Given the description of an element on the screen output the (x, y) to click on. 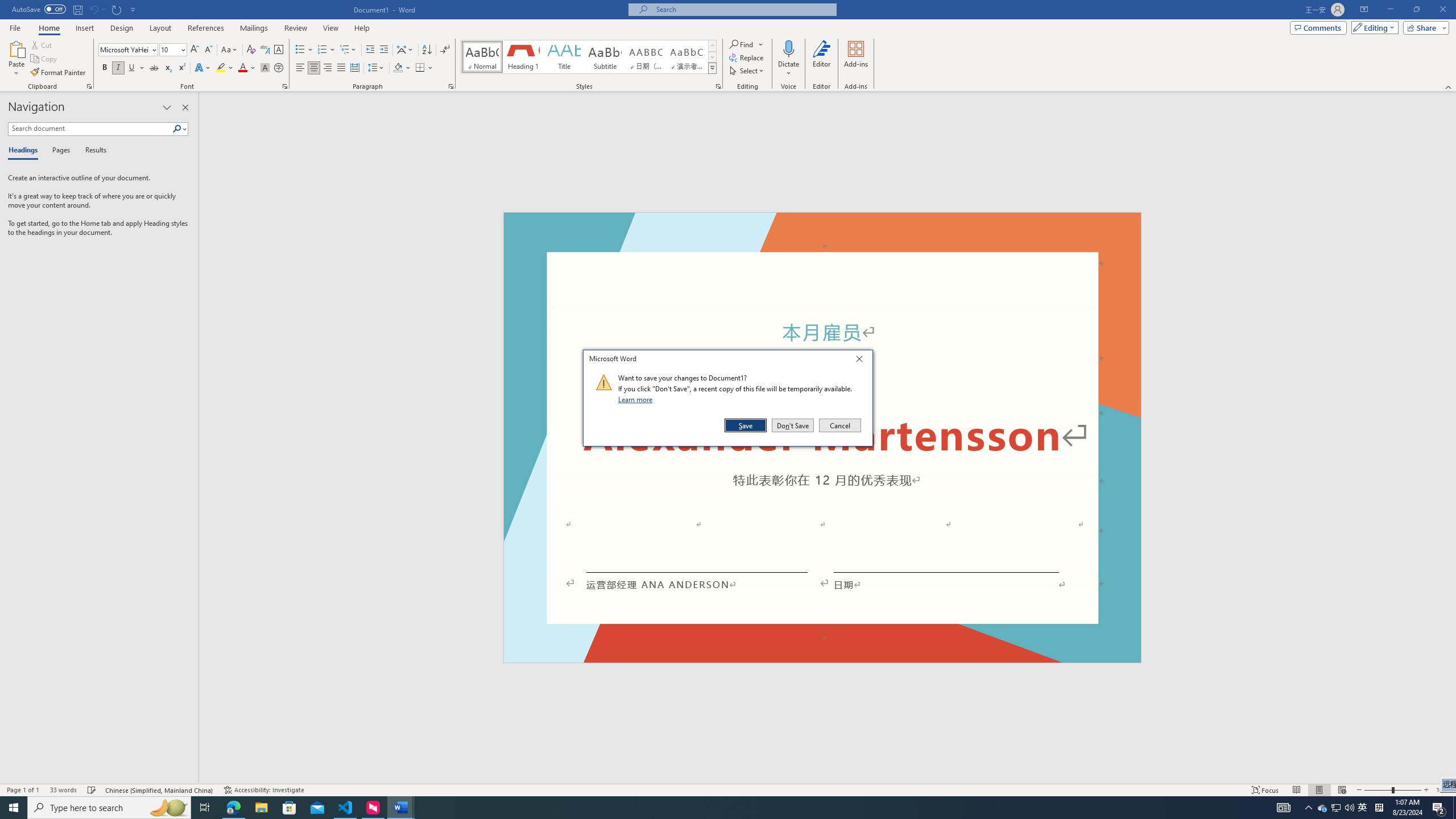
Replace... (747, 56)
Header -Section 1- (822, 225)
